Given the description of an element on the screen output the (x, y) to click on. 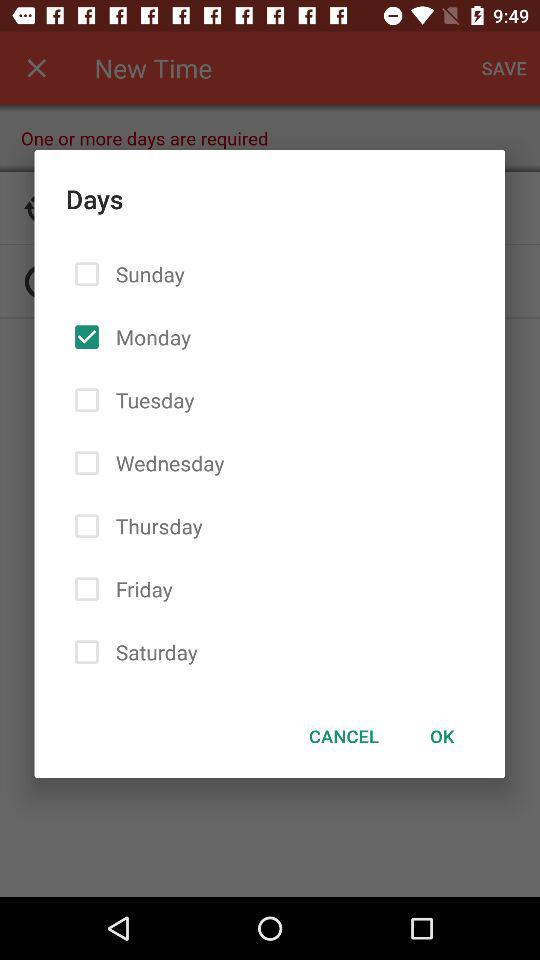
scroll until the monday item (149, 336)
